Given the description of an element on the screen output the (x, y) to click on. 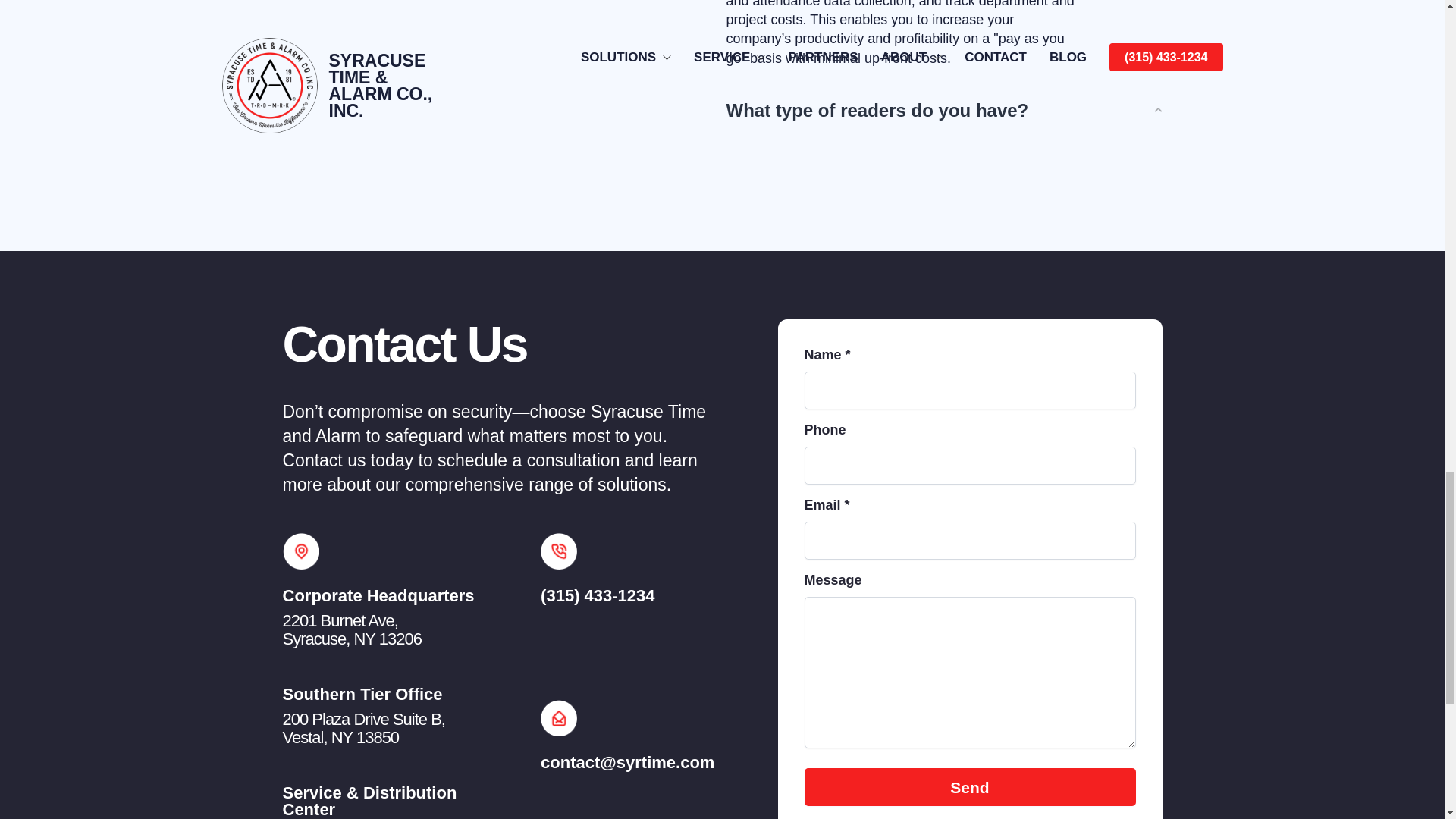
Send (363, 728)
Send (969, 786)
